Given the description of an element on the screen output the (x, y) to click on. 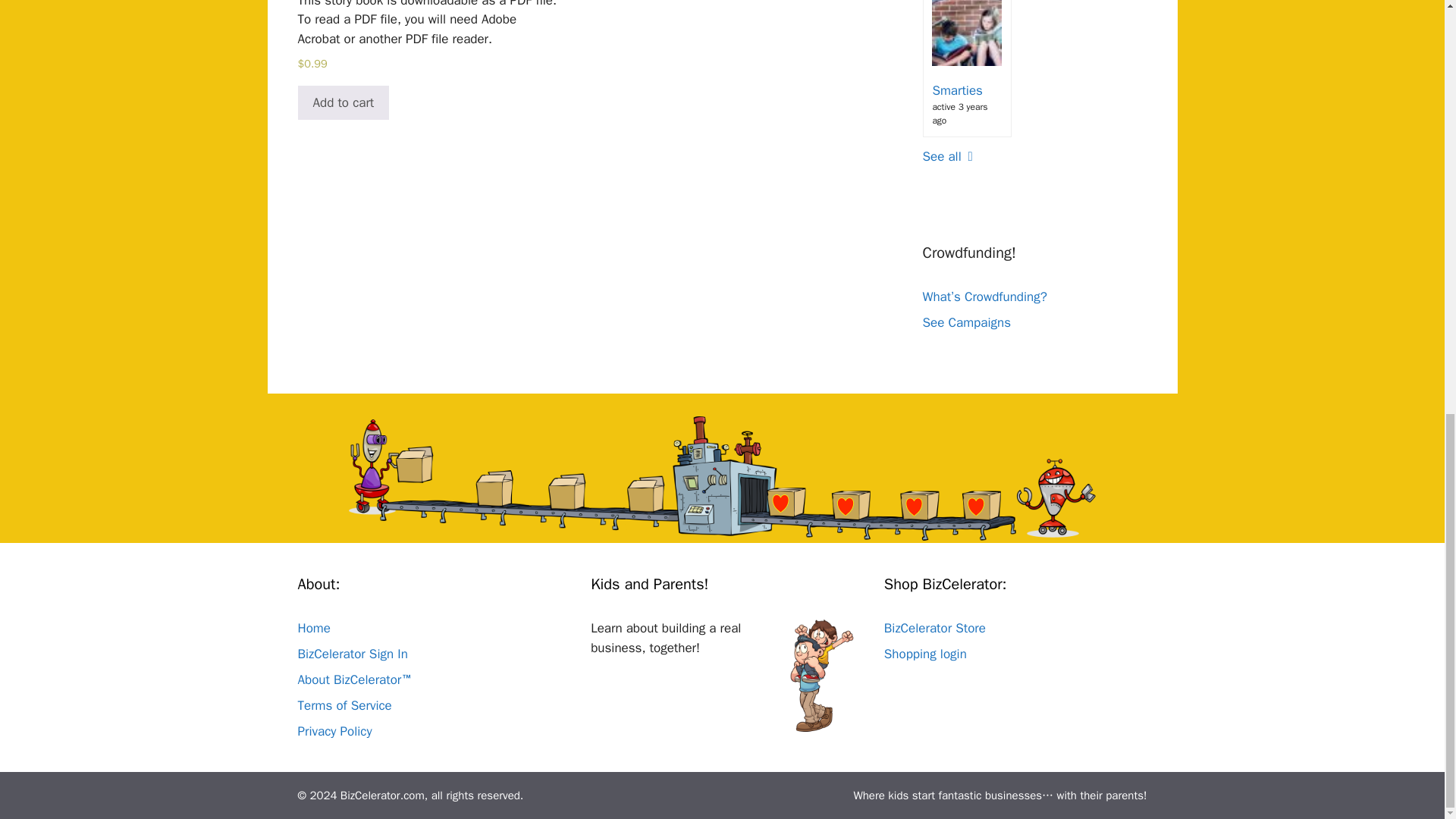
Add to cart (342, 102)
Scroll back to top (1406, 702)
